Given the description of an element on the screen output the (x, y) to click on. 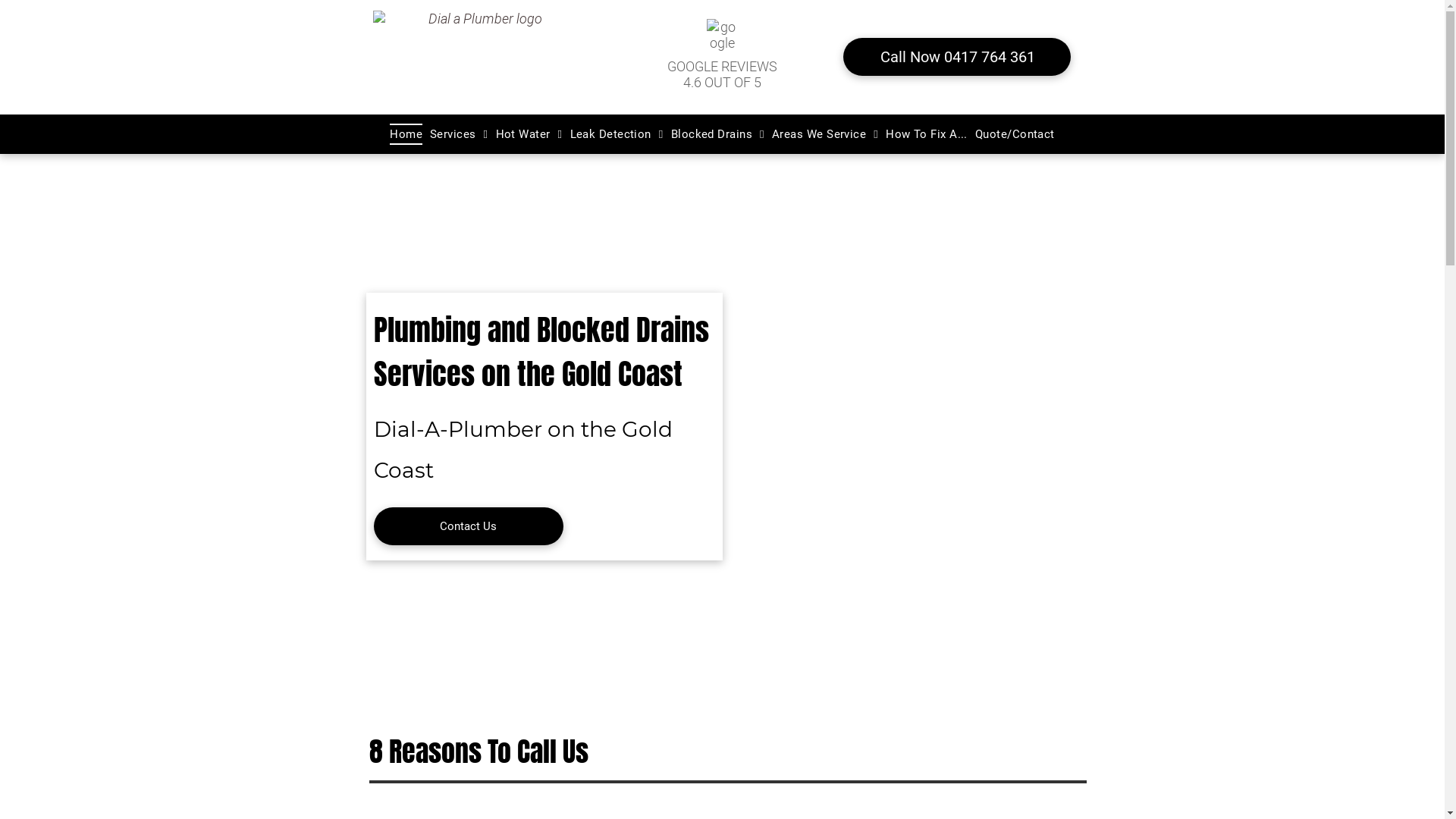
Home Element type: text (405, 133)
Leak Detection Element type: text (616, 133)
Areas We Service Element type: text (824, 133)
How To Fix A... Element type: text (926, 133)
Contact Us Element type: text (467, 526)
Hot Water Element type: text (529, 133)
Quote/Contact Element type: text (1014, 133)
Blocked Drains Element type: text (717, 133)
Call Now 0417 764 361 Element type: text (956, 56)
Services Element type: text (459, 133)
